Given the description of an element on the screen output the (x, y) to click on. 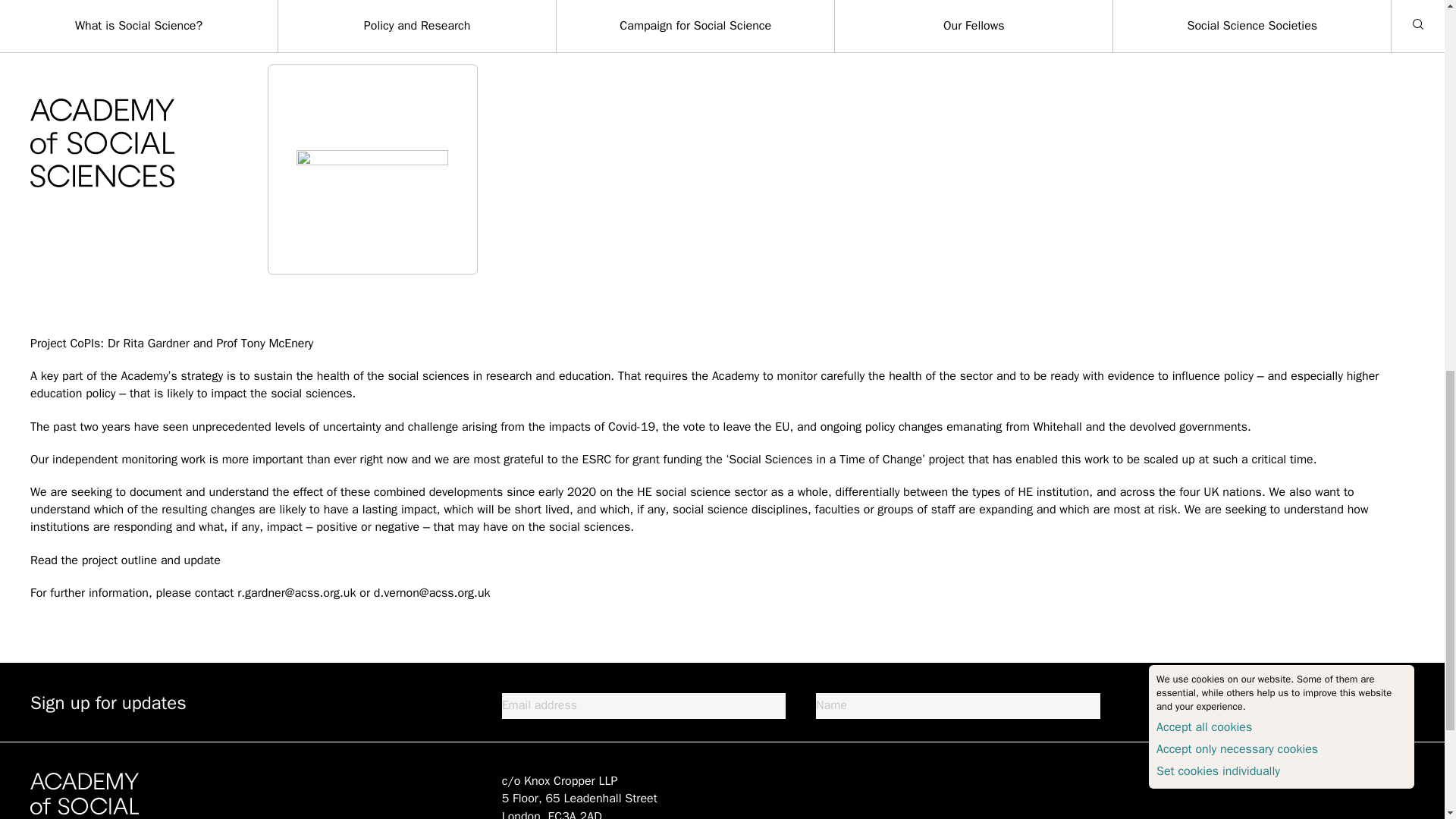
Subscribe (1368, 701)
